Given the description of an element on the screen output the (x, y) to click on. 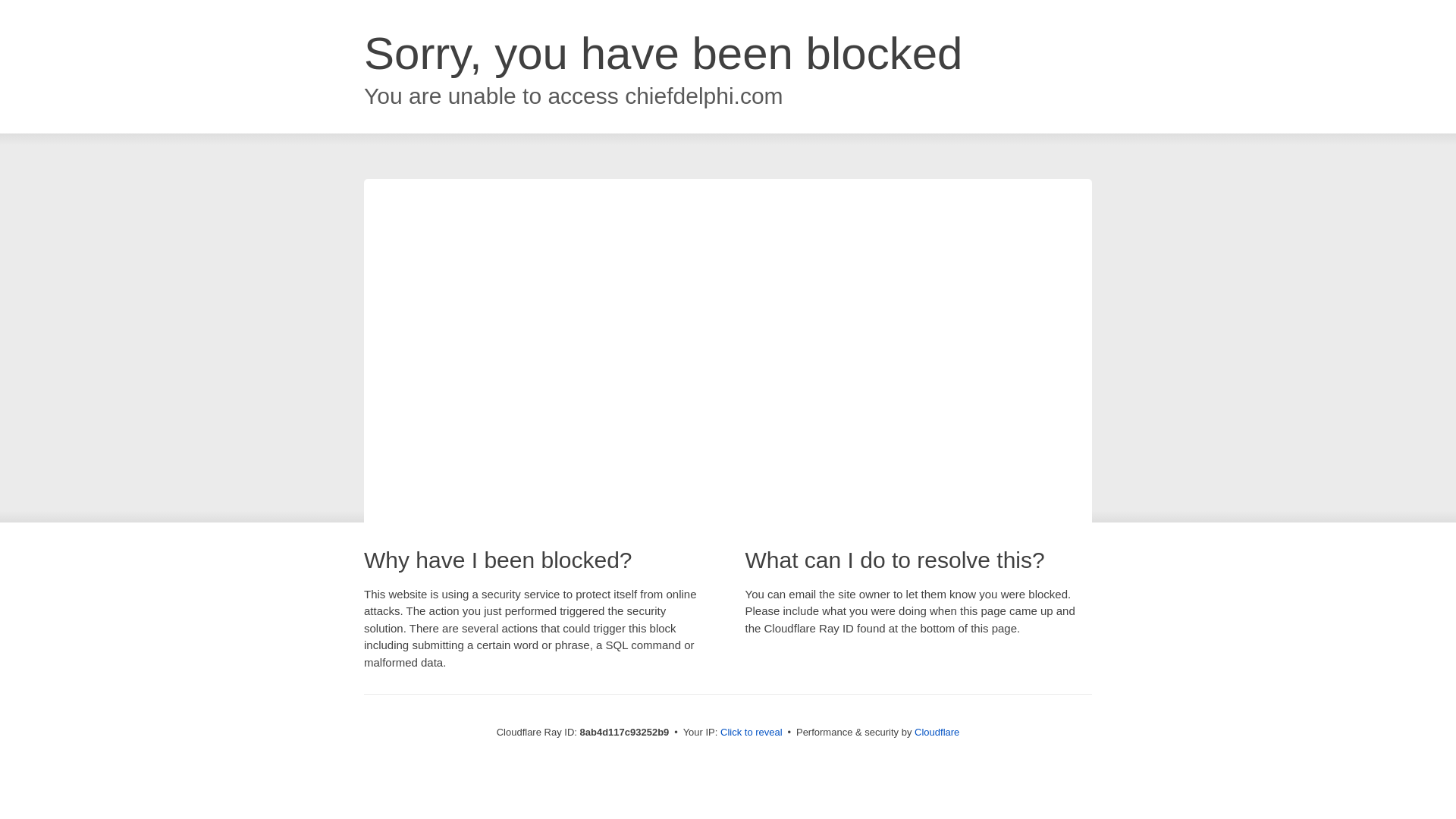
Click to reveal (751, 732)
Cloudflare (936, 731)
